Given the description of an element on the screen output the (x, y) to click on. 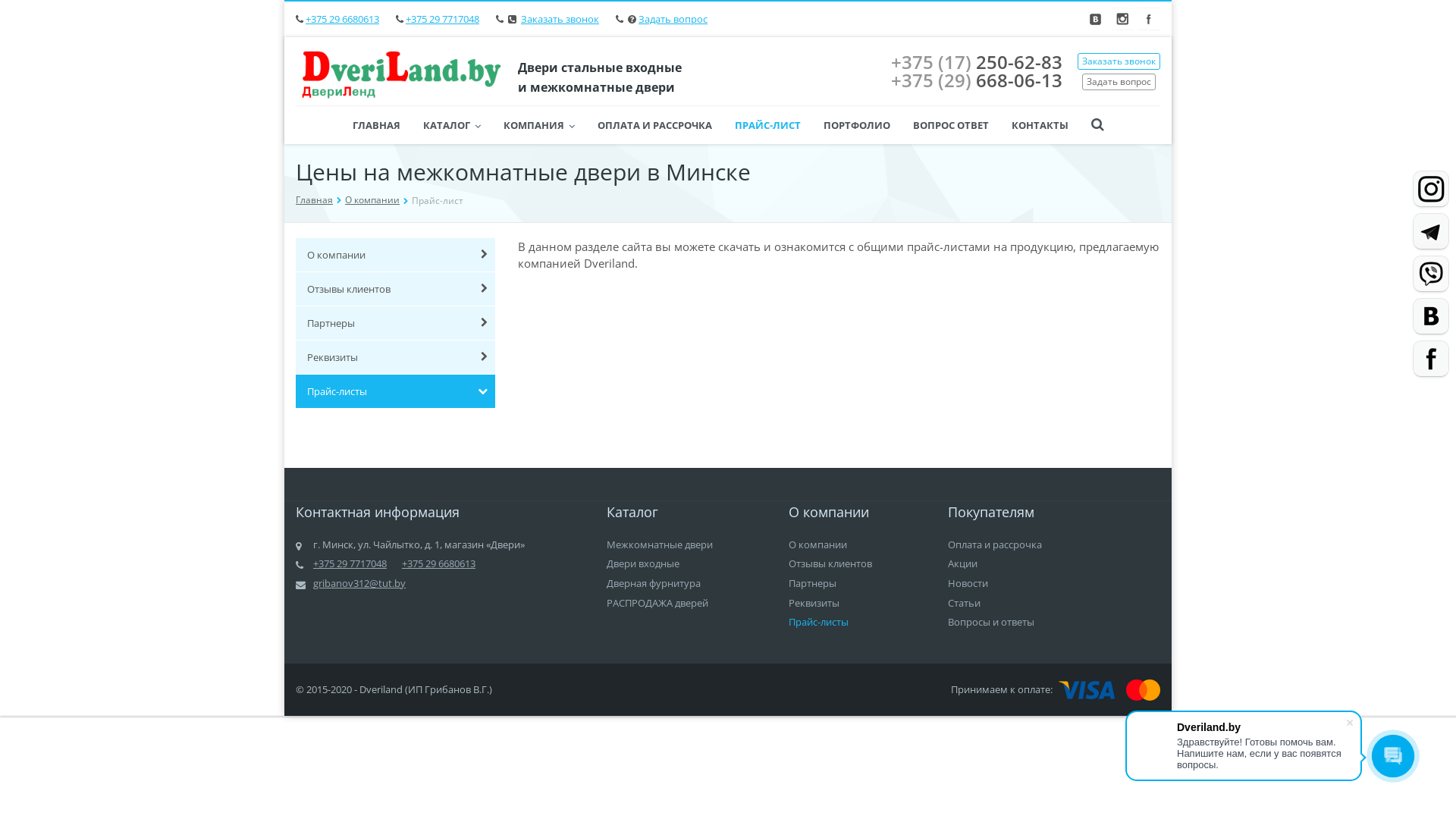
+375 29 6680613 Element type: text (438, 563)
+375 29 7717048 Element type: text (349, 563)
+375 29 7717048 Element type: text (442, 18)
+375 29 6680613 Element type: text (342, 18)
gribanov312@tut.by Element type: text (359, 582)
